Given the description of an element on the screen output the (x, y) to click on. 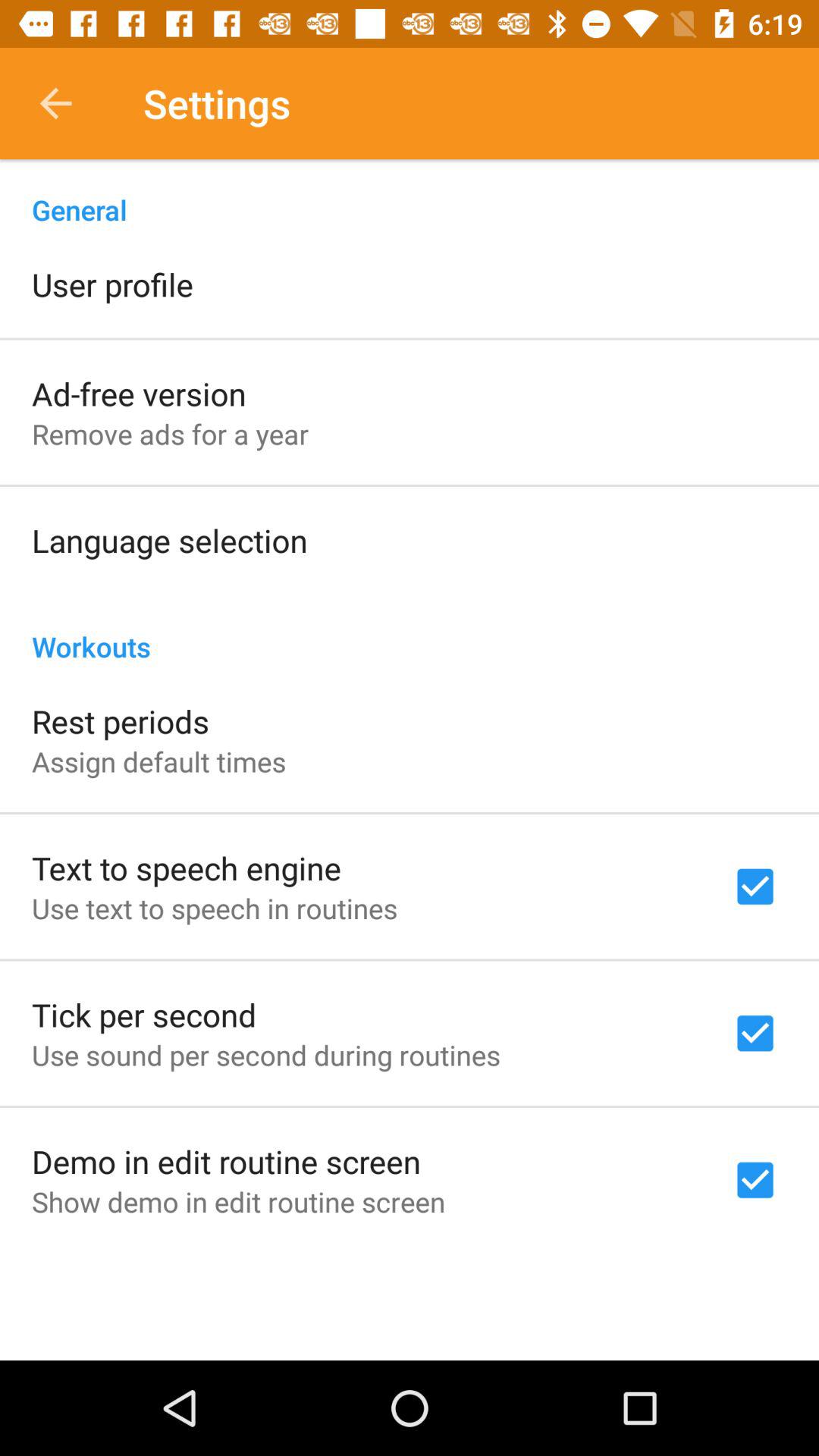
launch the item above demo in edit (265, 1054)
